Given the description of an element on the screen output the (x, y) to click on. 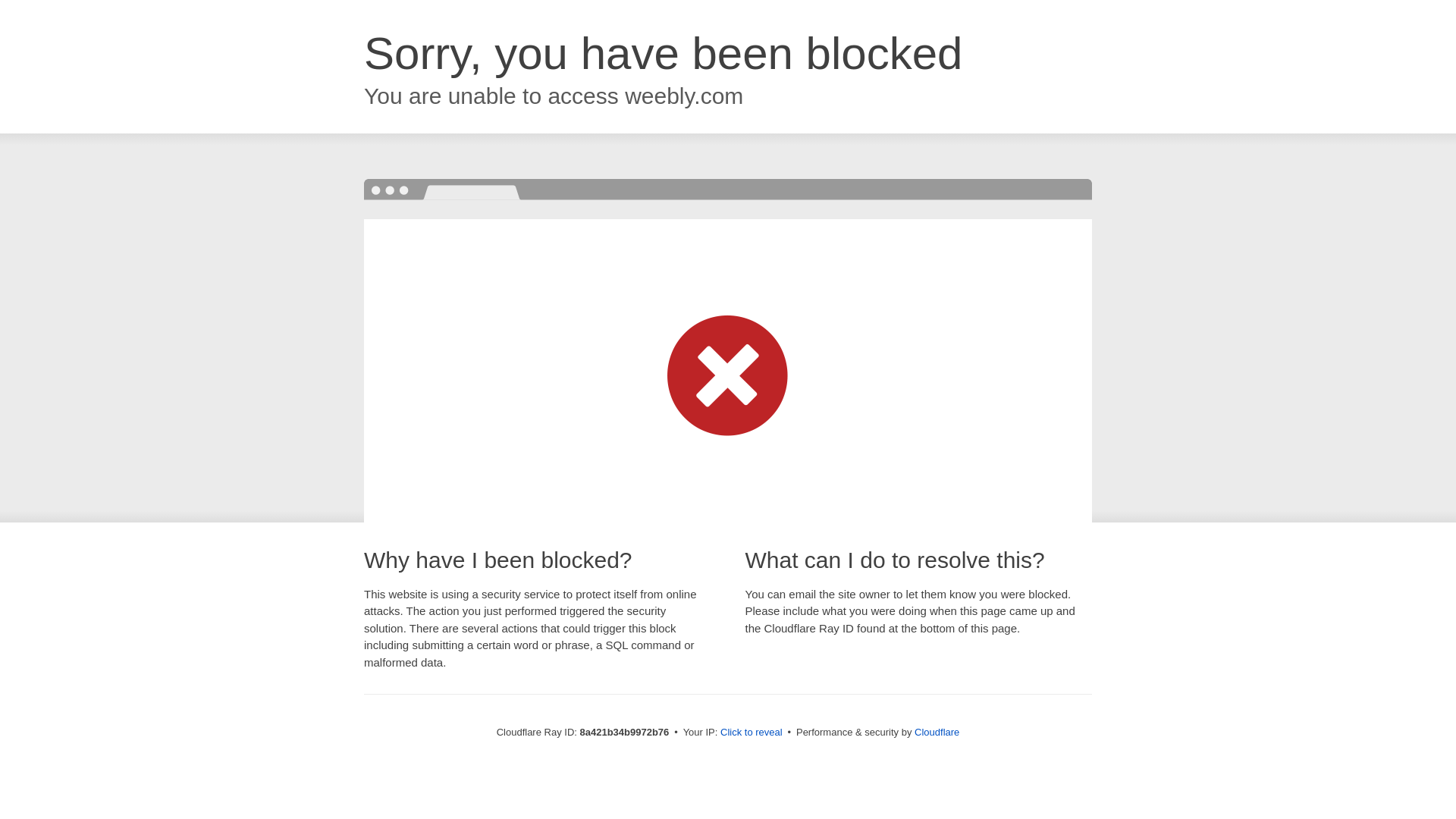
Click to reveal (751, 732)
Cloudflare (936, 731)
